Given the description of an element on the screen output the (x, y) to click on. 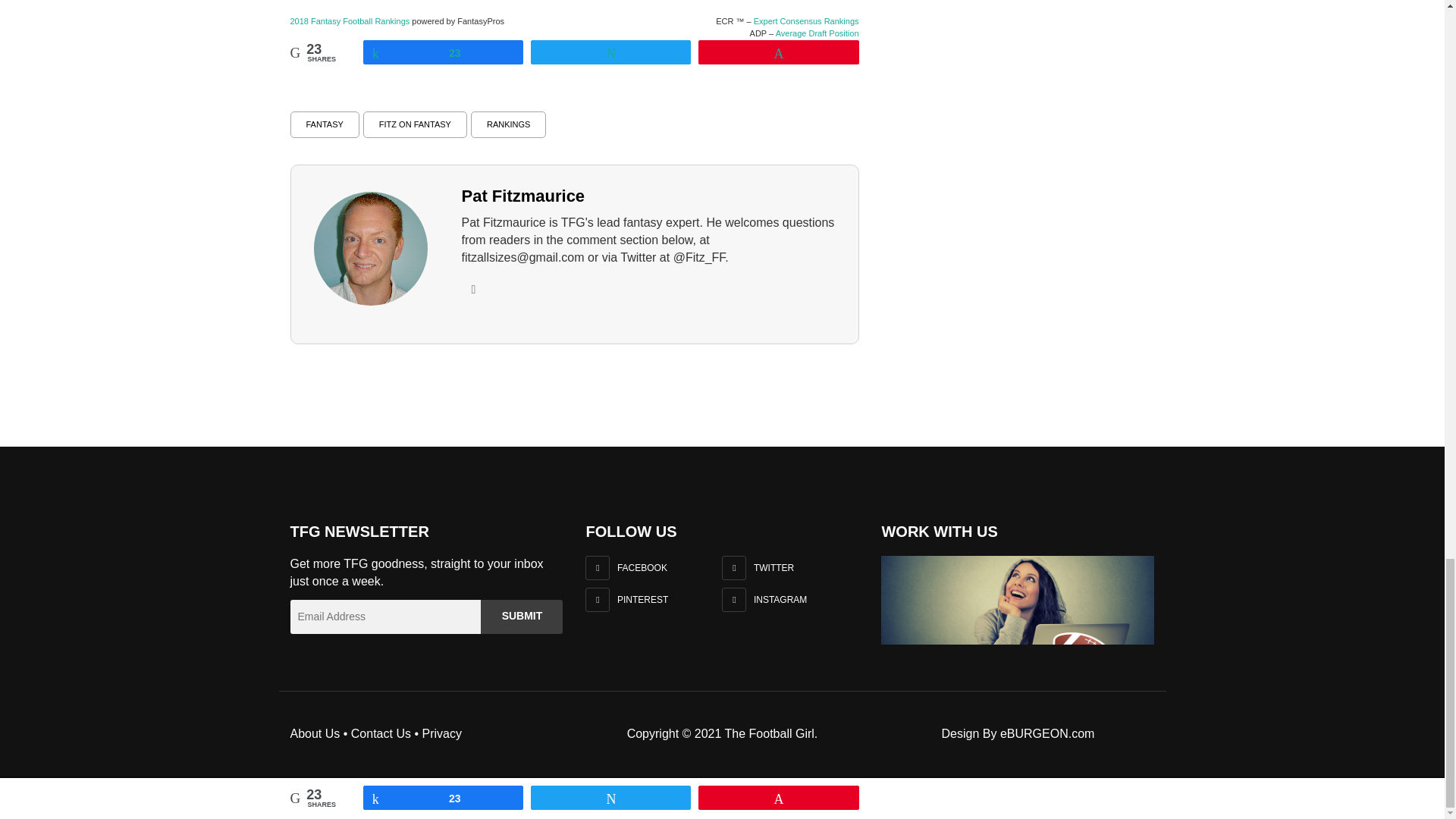
Work With The Football Girl (1017, 600)
